Given the description of an element on the screen output the (x, y) to click on. 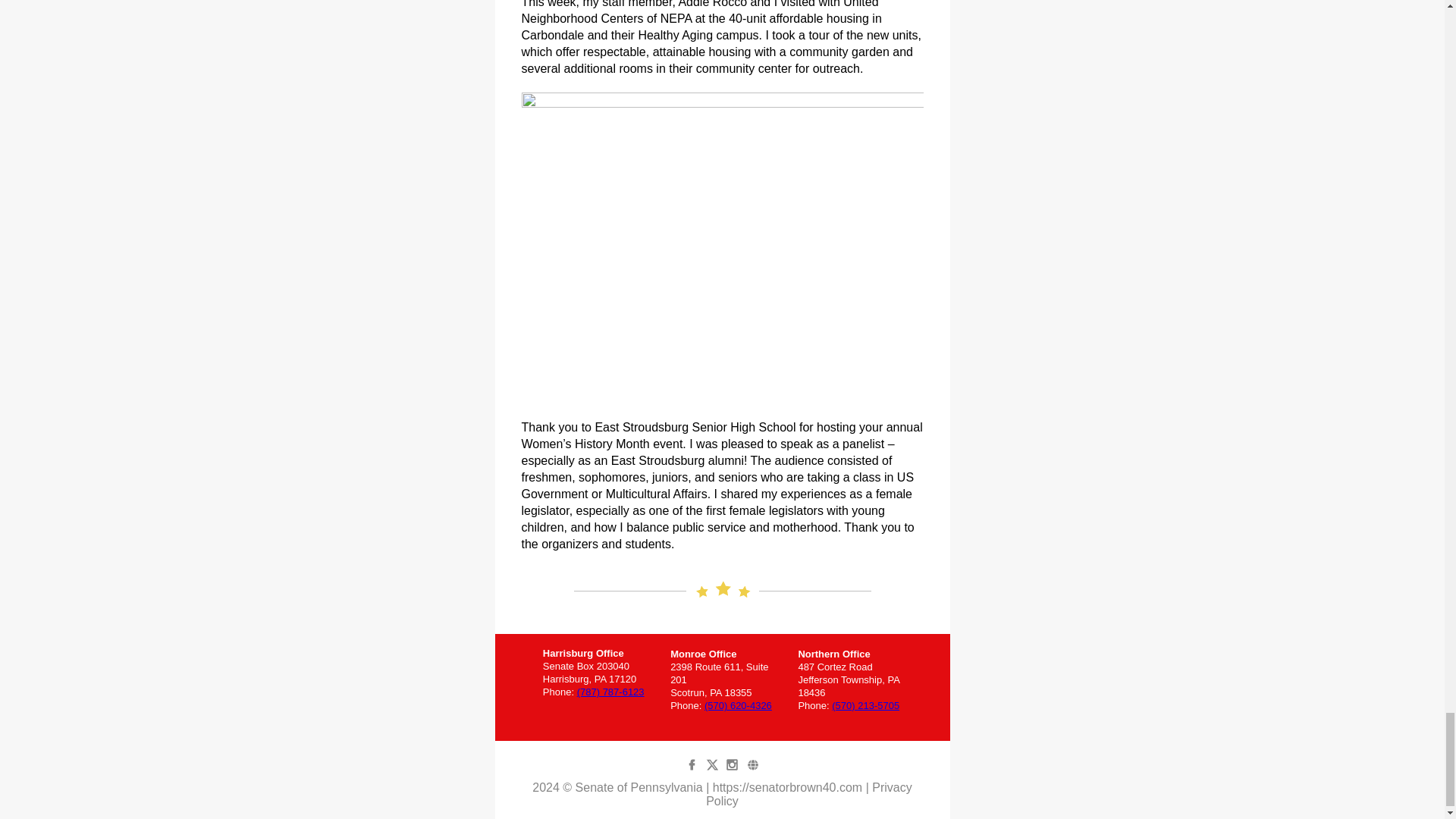
Privacy Policy (809, 794)
